Given the description of an element on the screen output the (x, y) to click on. 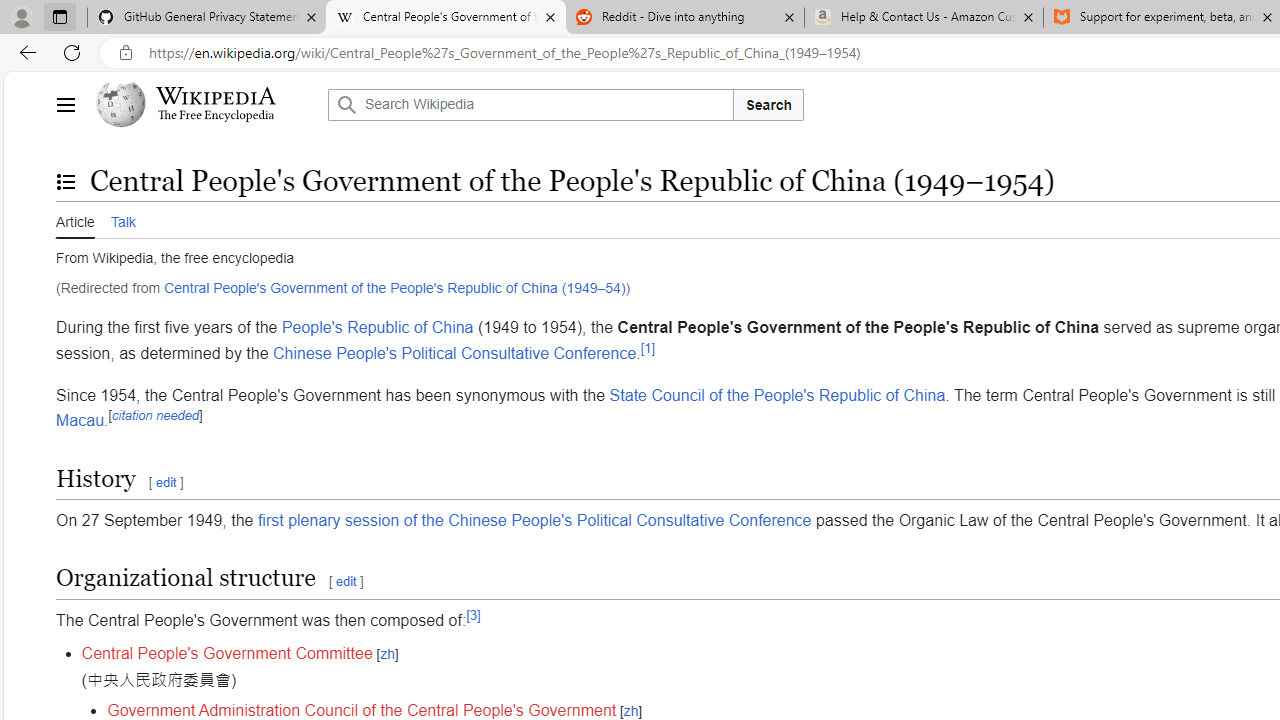
Main menu (65, 104)
